Given the description of an element on the screen output the (x, y) to click on. 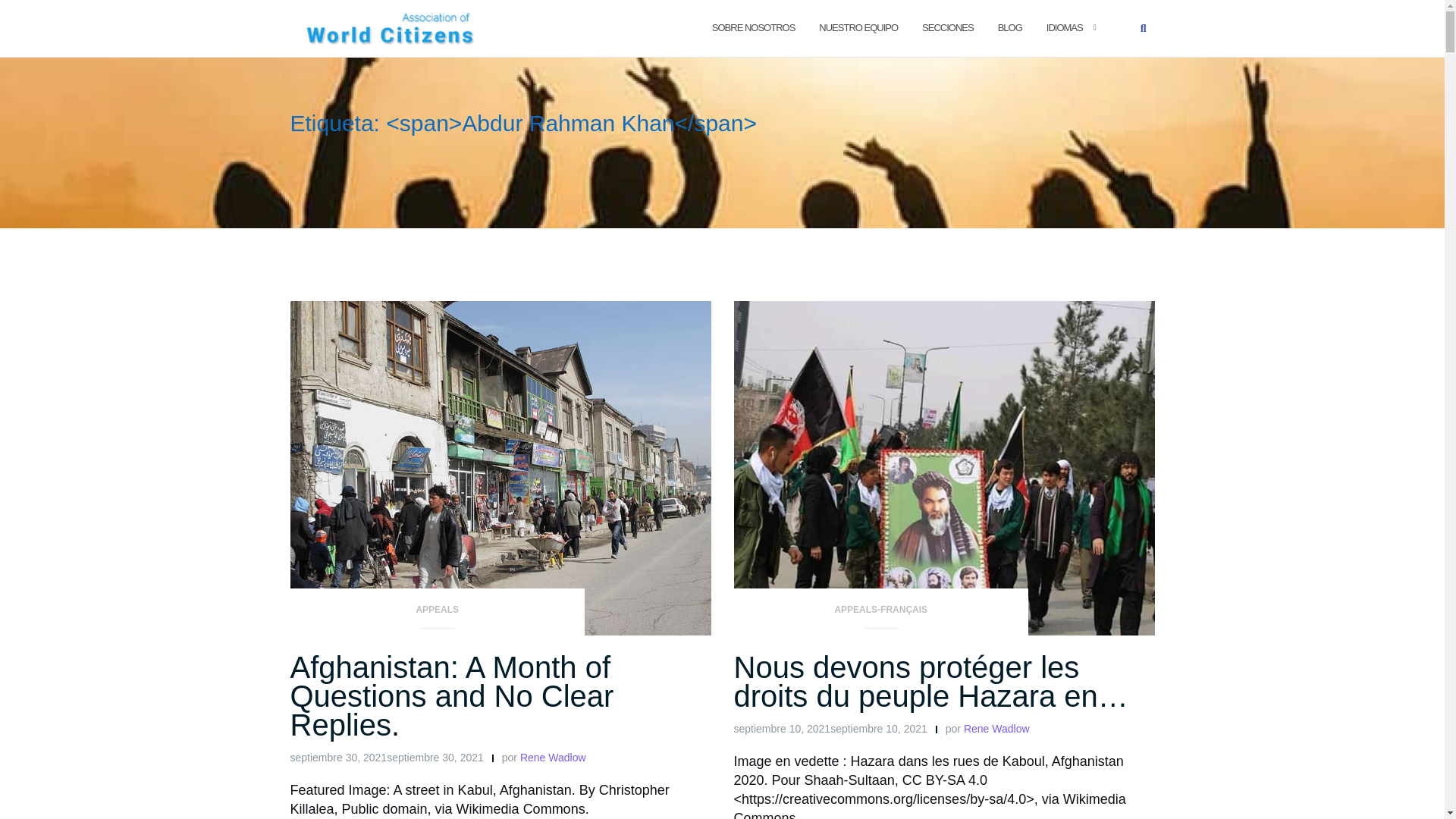
APPEALS (437, 614)
Rene Wadlow (552, 757)
Afghanistan: A Month of Questions and No Clear Replies. (450, 696)
Rene Wadlow (552, 757)
SECCIONES (947, 28)
Nuestro Equipo (858, 28)
SOBRE NOSOTROS (752, 28)
Secciones (947, 28)
Sobre Nosotros (752, 28)
NUESTRO EQUIPO (858, 28)
